Given the description of an element on the screen output the (x, y) to click on. 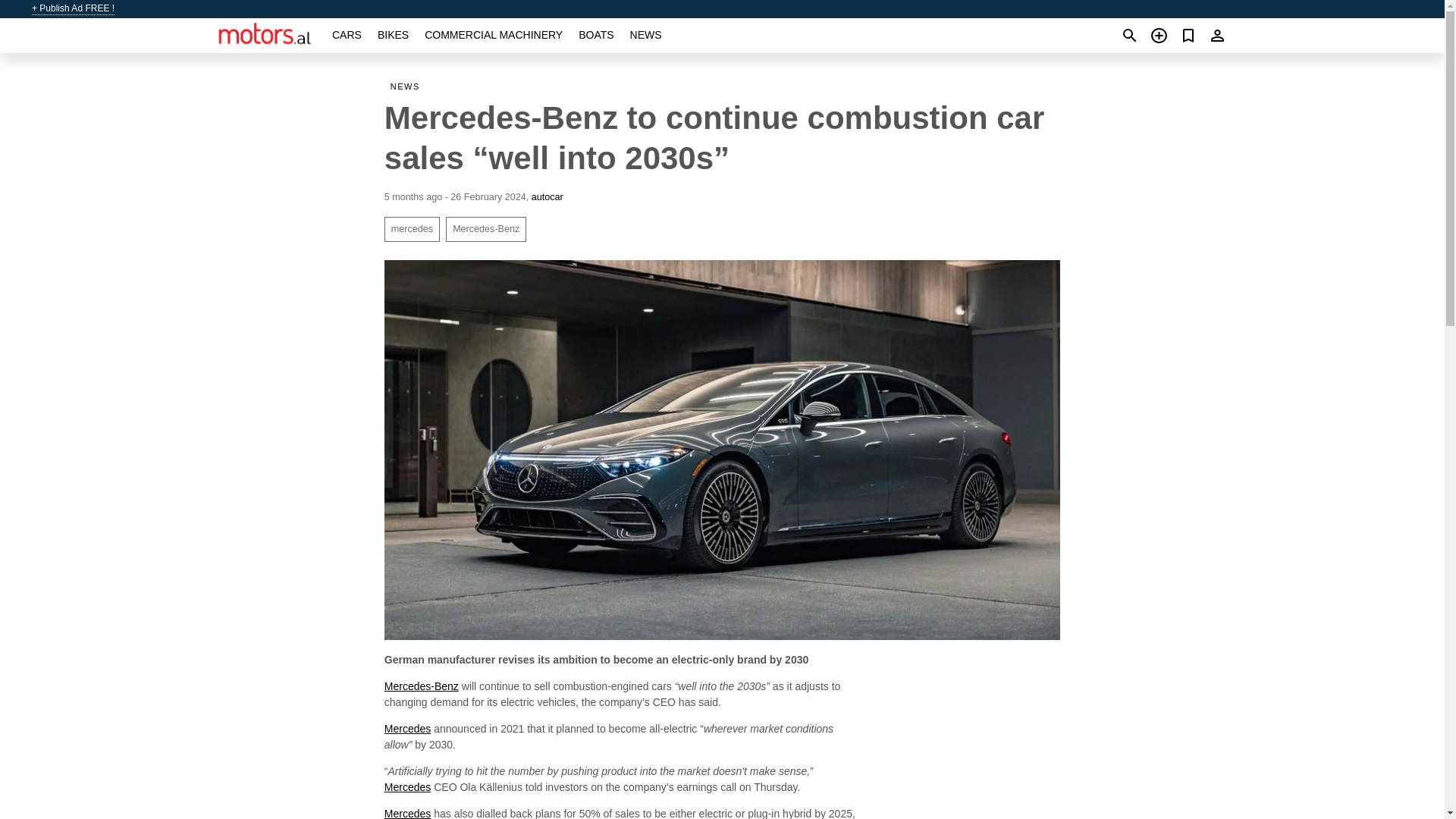
NEWS (646, 35)
BIKES (393, 35)
mercedes (411, 229)
Mercedes-Benz (485, 229)
BOATS (595, 35)
NEWS (408, 86)
Mercedes for sale IN TIRANE (407, 813)
Benz FOR SALE IN ALBANIA (421, 686)
COMMERCIAL MACHINERY (493, 35)
CARS (346, 35)
Mercedes-Benz (421, 686)
Mercedes (407, 813)
Mercedes (407, 787)
Mercedes for sale IN DURRES (407, 728)
autocar (547, 196)
